Given the description of an element on the screen output the (x, y) to click on. 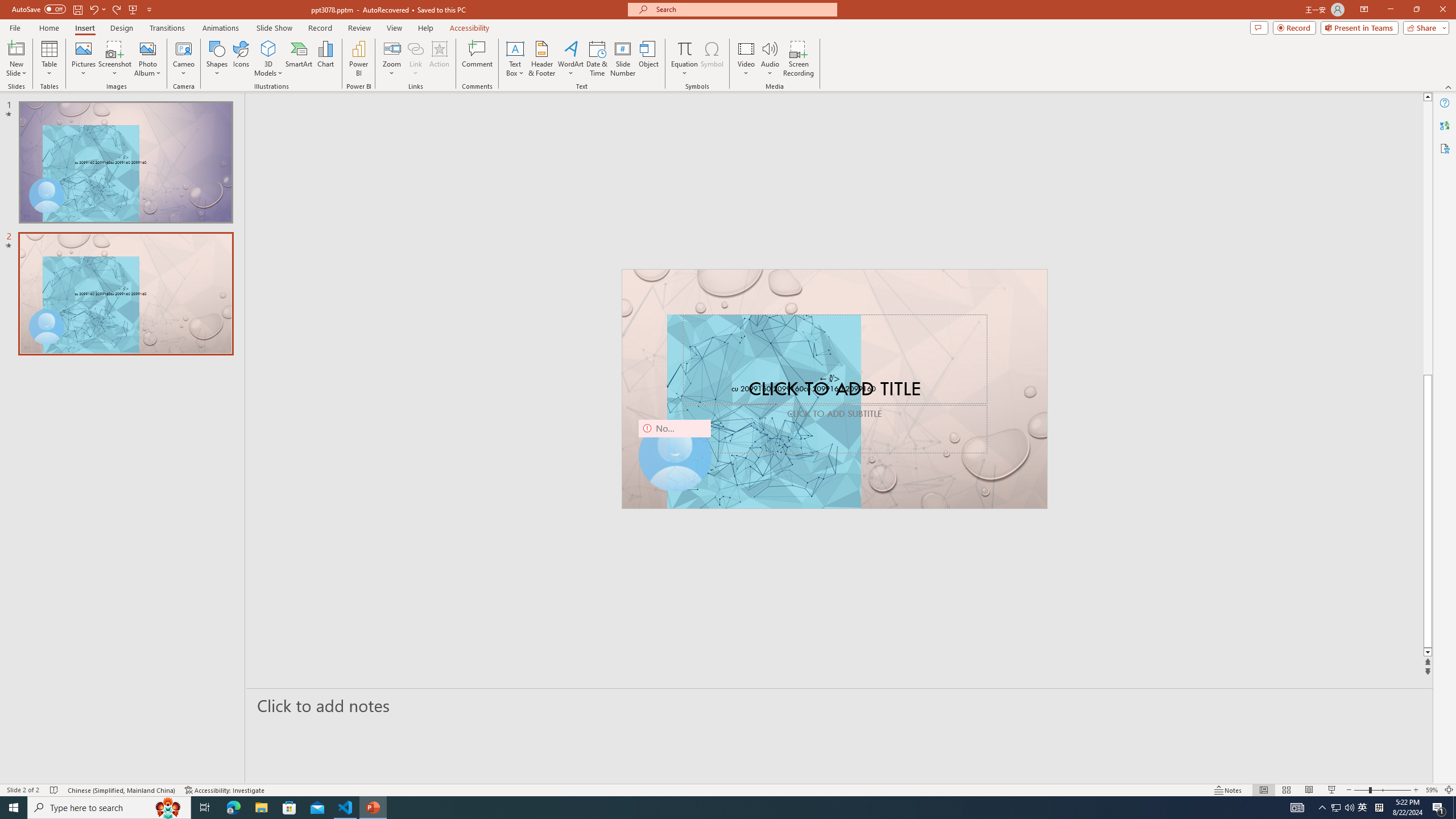
Object... (649, 58)
WordArt (570, 58)
Slide Number (622, 58)
Photo Album... (147, 58)
TextBox 7 (829, 378)
